Given the description of an element on the screen output the (x, y) to click on. 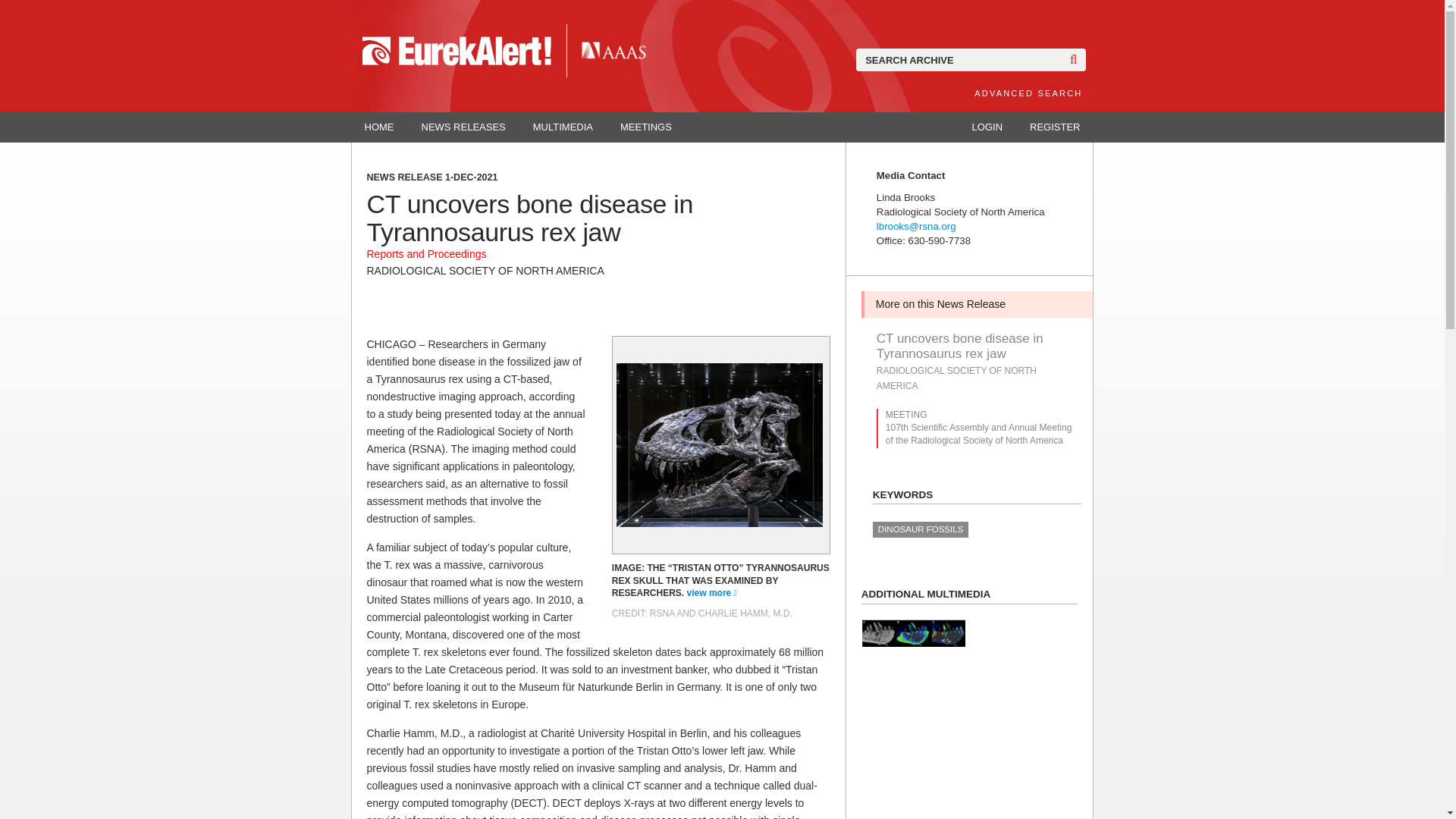
DINOSAUR FOSSILS (920, 529)
MEETINGS (646, 127)
ADVANCED SEARCH (1027, 92)
CT uncovers bone disease in Tyrannosaurus rex jaw (977, 346)
view more  (711, 593)
HOME (378, 127)
LOGIN (987, 127)
REGISTER (1054, 127)
Reports and Proceedings (426, 254)
NEWS RELEASES (463, 127)
MULTIMEDIA (563, 127)
